Given the description of an element on the screen output the (x, y) to click on. 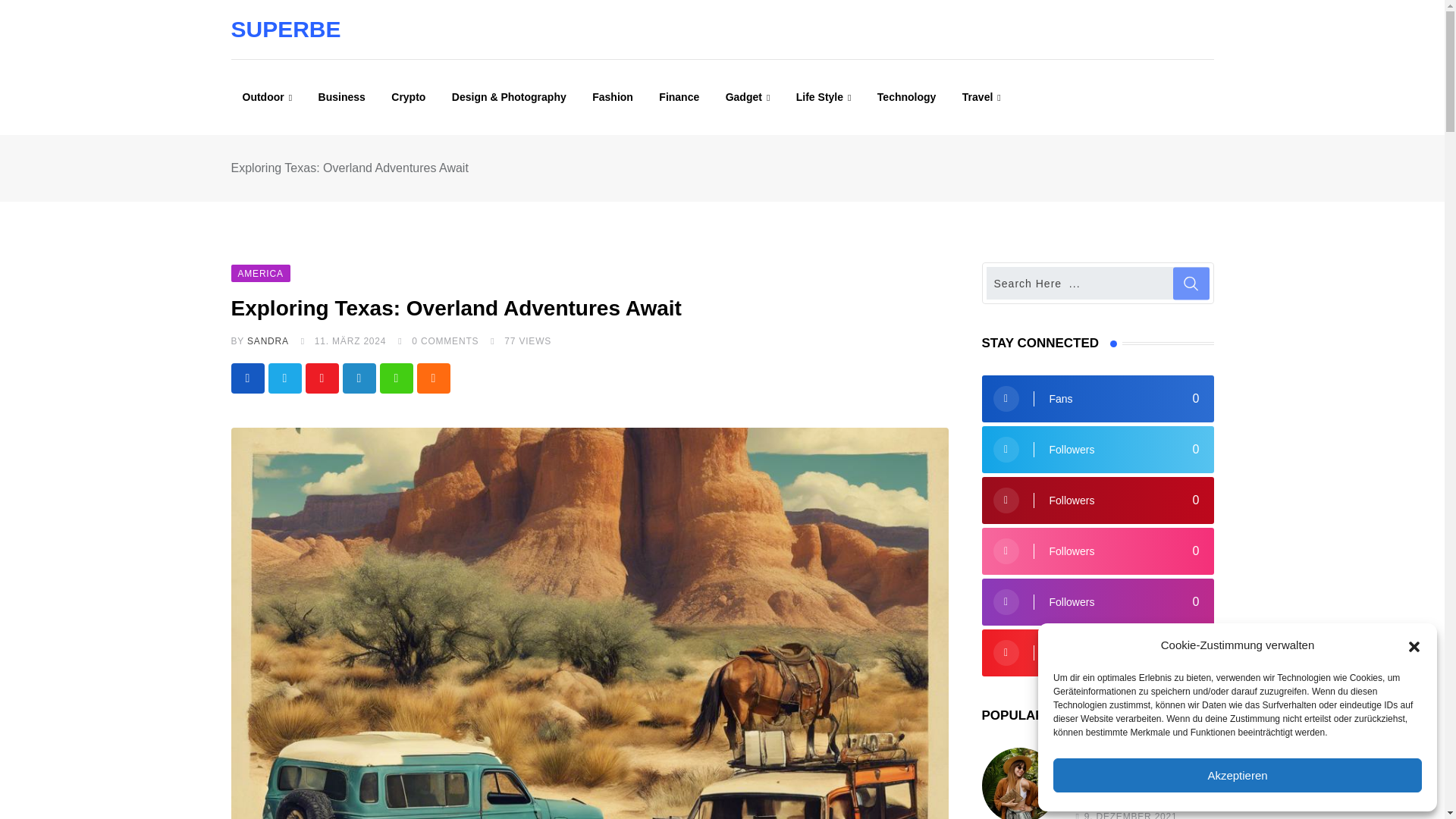
Business (342, 96)
Life Style (823, 97)
Budget Issues Force The Our To Be Cancelled 2 (1019, 782)
Gadget (747, 97)
Outdoor (266, 97)
Akzeptieren (1237, 775)
SUPERBE (285, 29)
Technology (906, 96)
Budget Issues Force The Our To Be Cancelled (1019, 783)
